Given the description of an element on the screen output the (x, y) to click on. 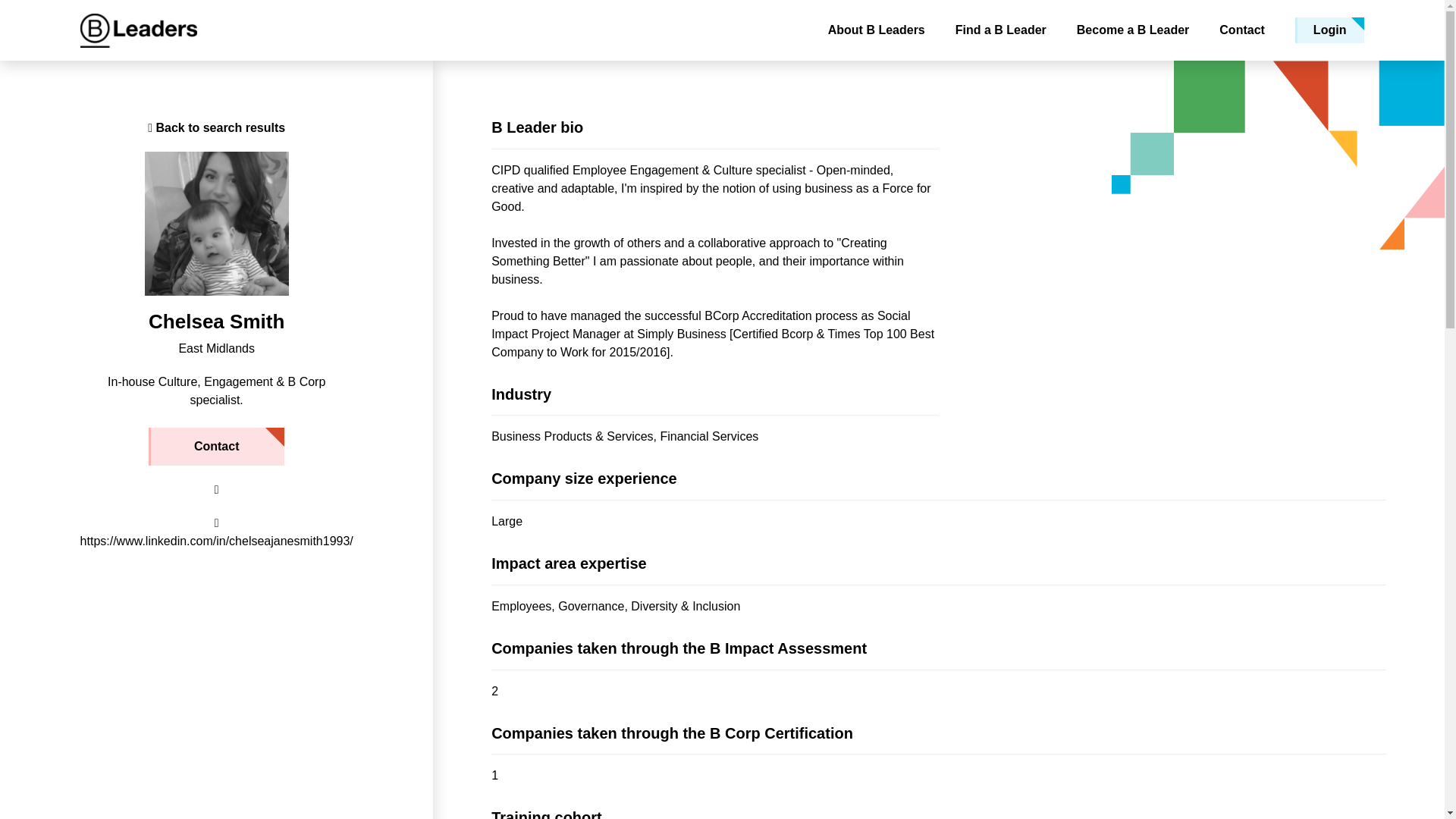
Back to search results (216, 127)
Contact (216, 446)
Find a B Leader (1000, 30)
About B Leaders (876, 30)
Login (1330, 30)
Contact (1242, 30)
Become a B Leader (1133, 30)
